Given the description of an element on the screen output the (x, y) to click on. 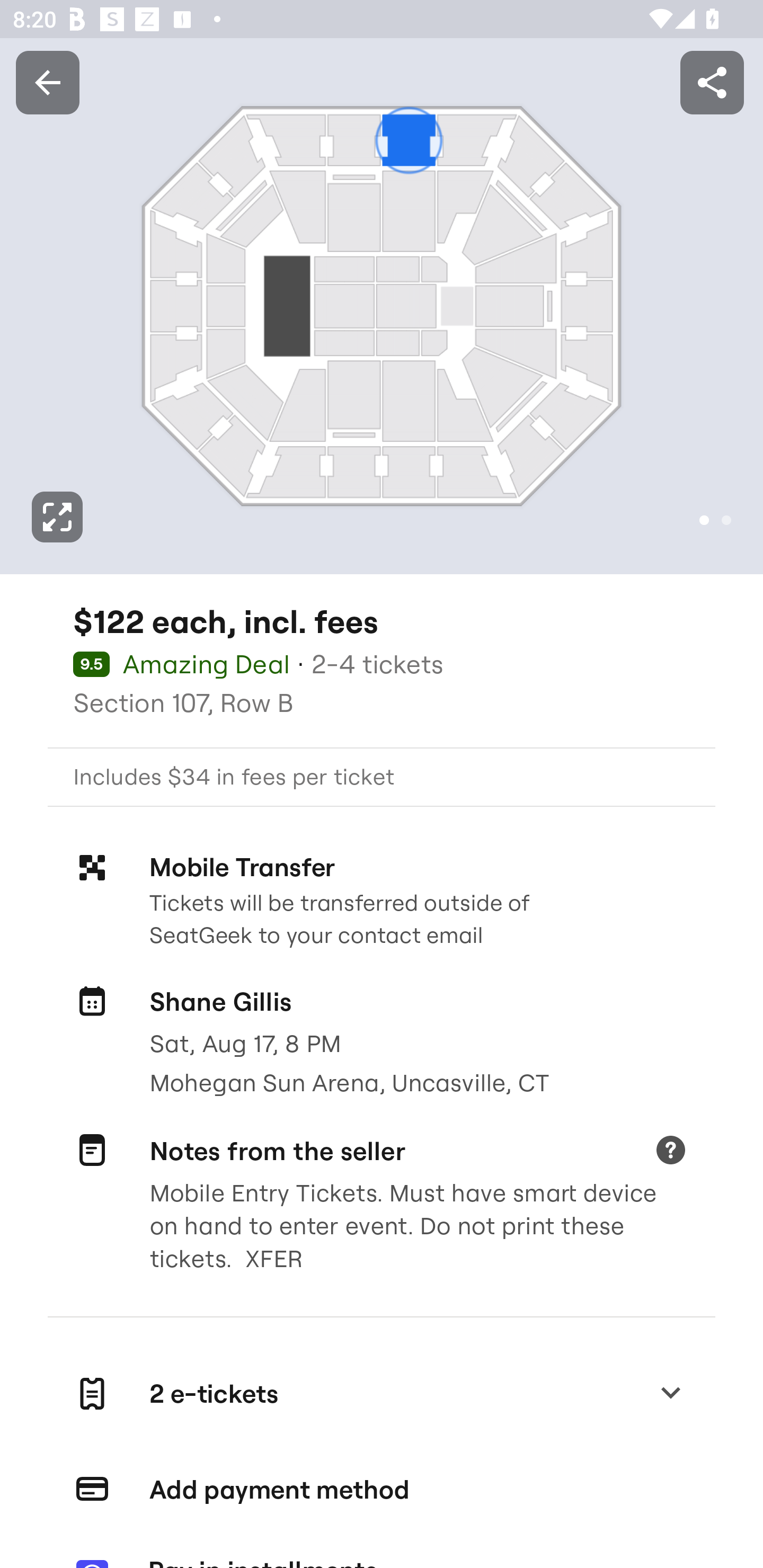
Back (47, 81)
Share (711, 81)
Expand image to fullscreen (57, 517)
Learn more (670, 1151)
2 e-tickets Expand to show options (381, 1393)
Add payment method (381, 1490)
